Given the description of an element on the screen output the (x, y) to click on. 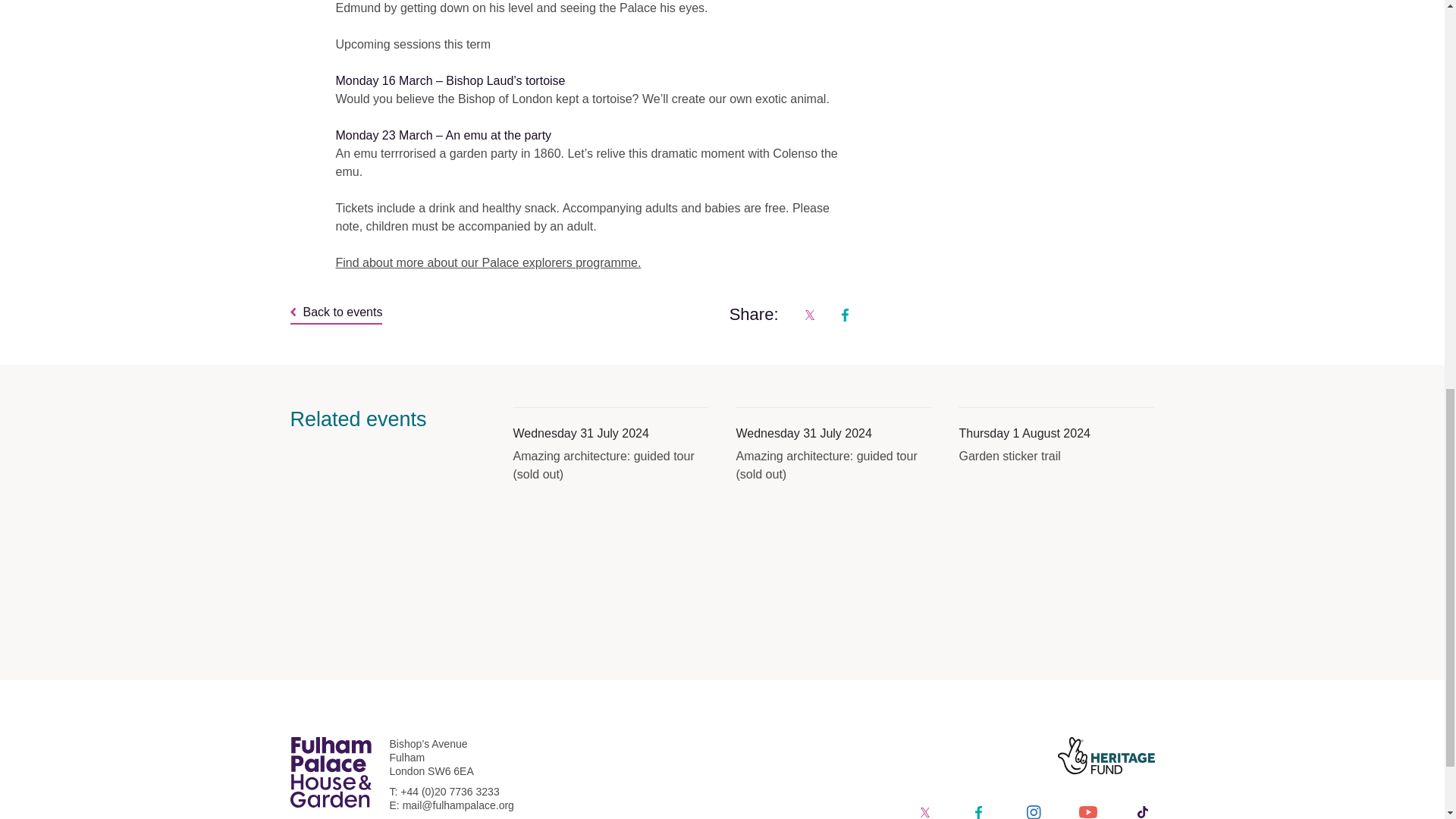
Back to events (335, 314)
